Given the description of an element on the screen output the (x, y) to click on. 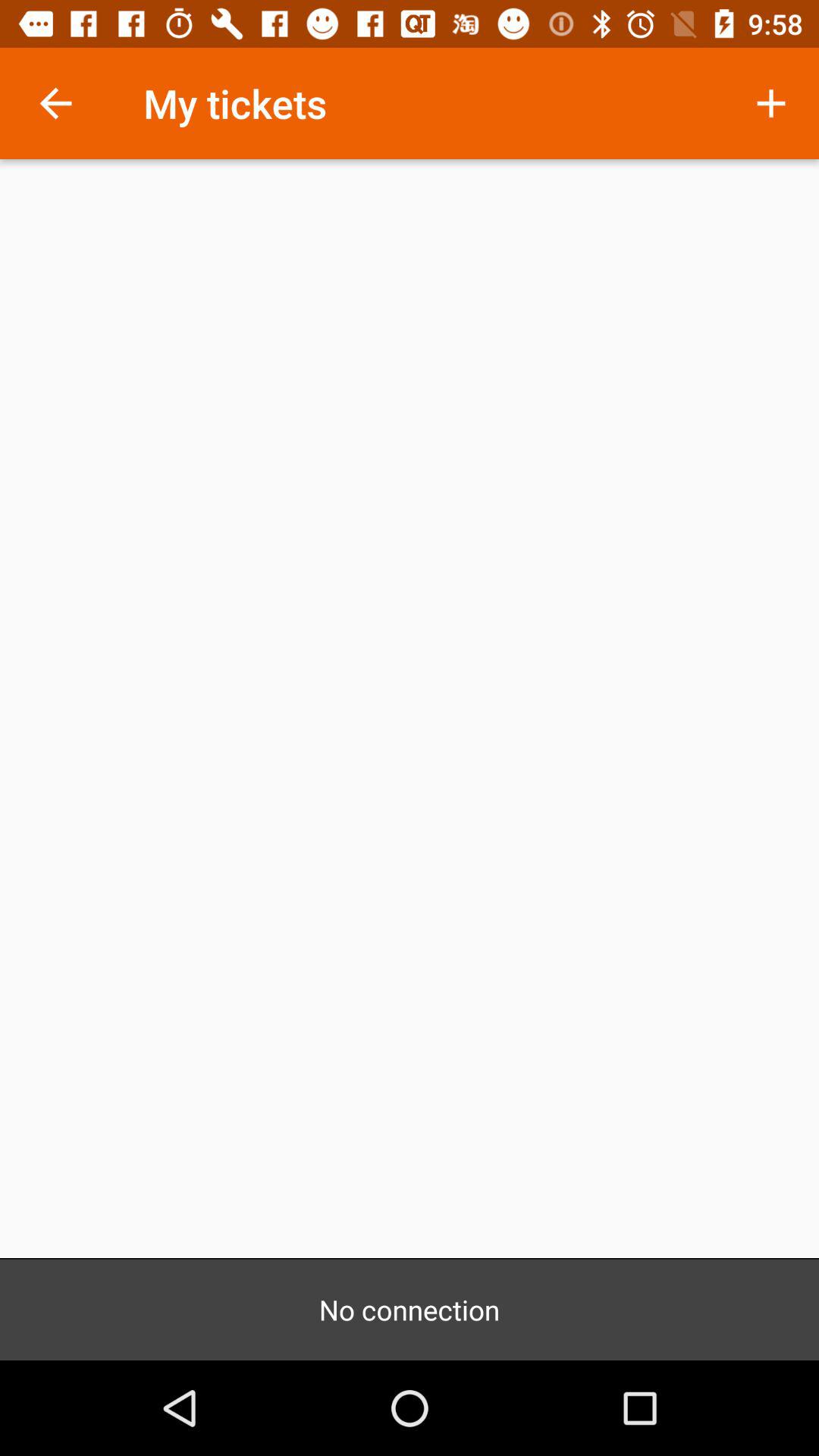
turn on item next to the my tickets (55, 103)
